Given the description of an element on the screen output the (x, y) to click on. 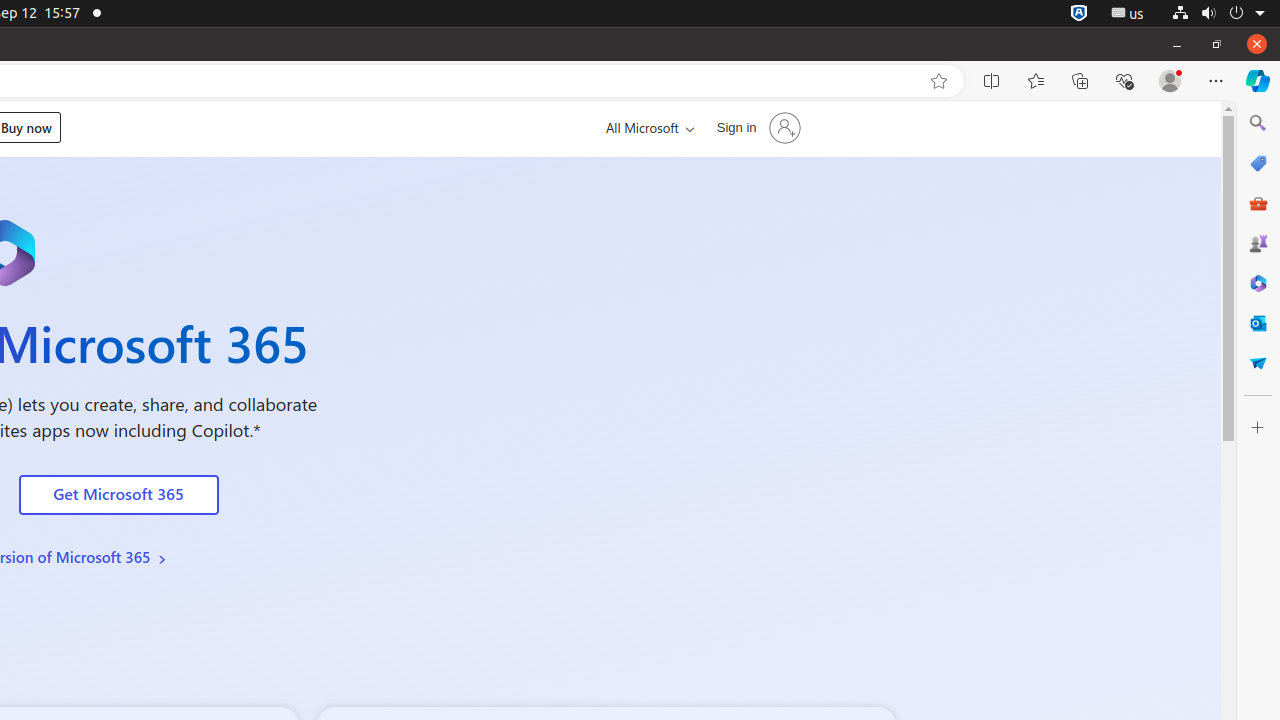
Tools Element type: push-button (1258, 202)
All Microsoft  Element type: push-button (646, 127)
Favorites Element type: push-button (1036, 81)
Settings and more (Alt+F) Element type: push-button (1216, 81)
Microsoft 365 Element type: push-button (1258, 283)
